Given the description of an element on the screen output the (x, y) to click on. 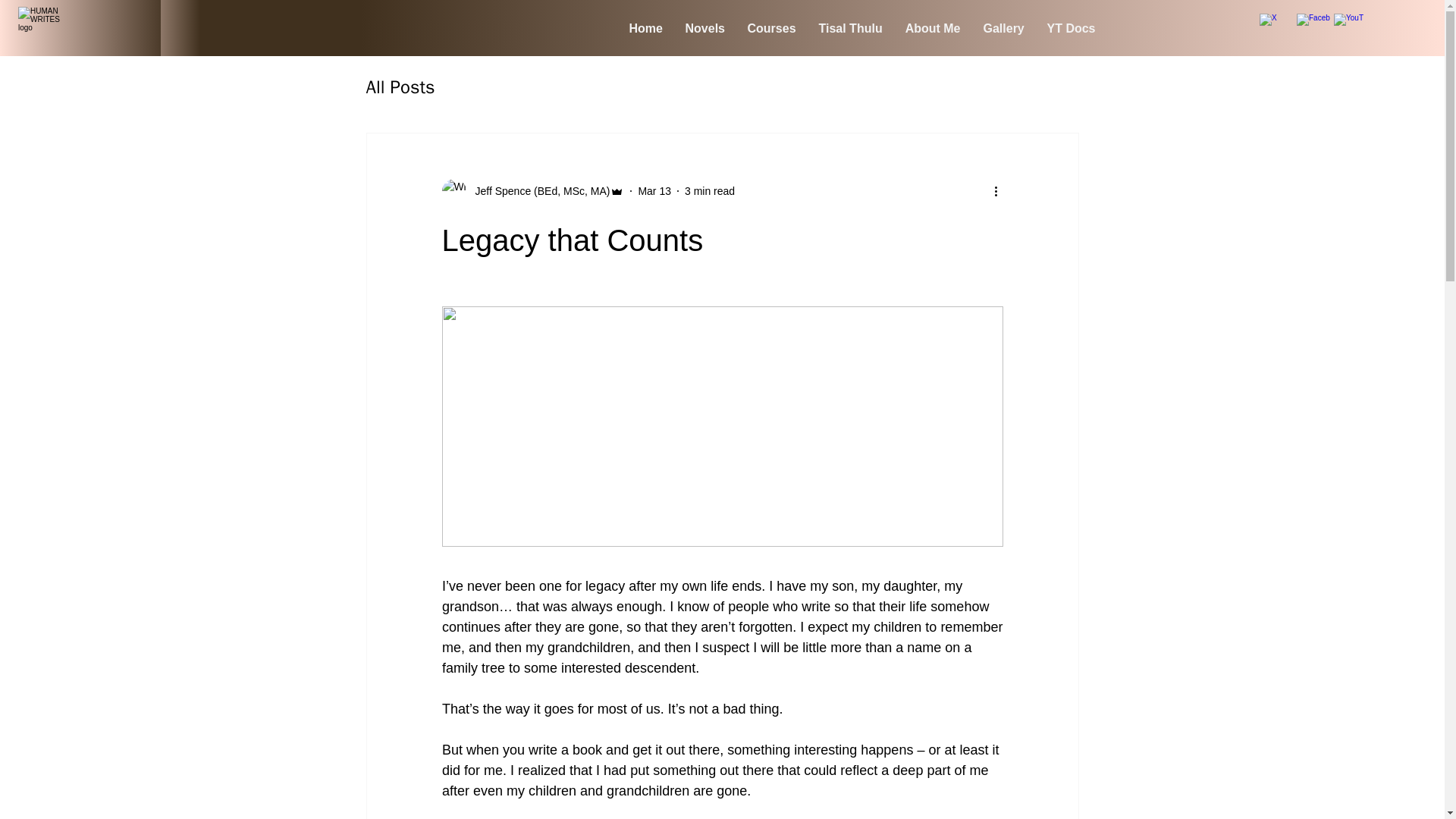
Tisal Thulu (849, 28)
Home (644, 28)
HUMAN WRITES LOGO 2B 2X2.jpg (39, 27)
About Me (932, 28)
YT Docs (1070, 28)
All Posts (399, 87)
Mar 13 (654, 191)
Courses (770, 28)
Gallery (1003, 28)
3 min read (709, 191)
